Given the description of an element on the screen output the (x, y) to click on. 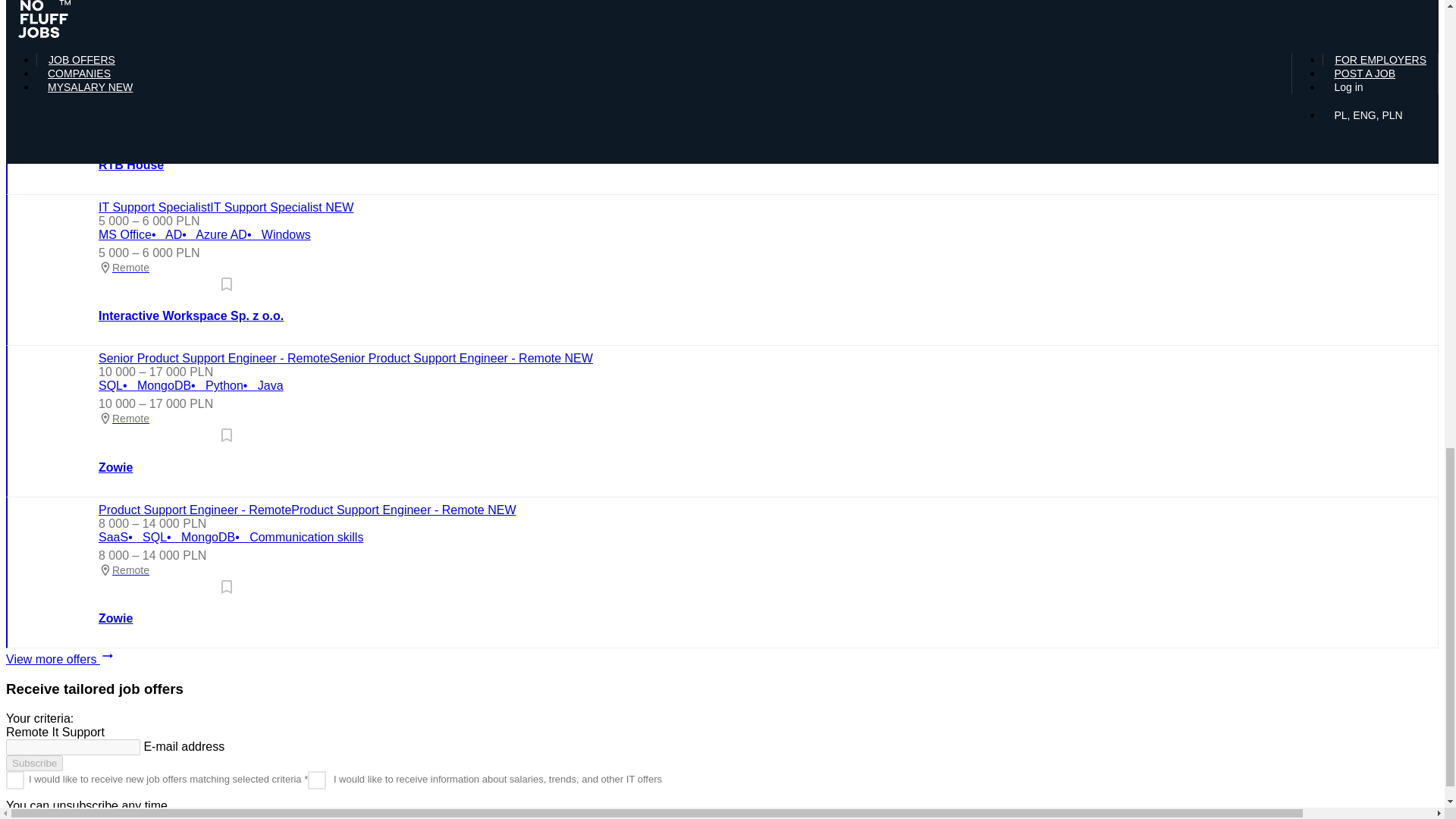
Subscribe (33, 763)
View more offers (721, 657)
